Given the description of an element on the screen output the (x, y) to click on. 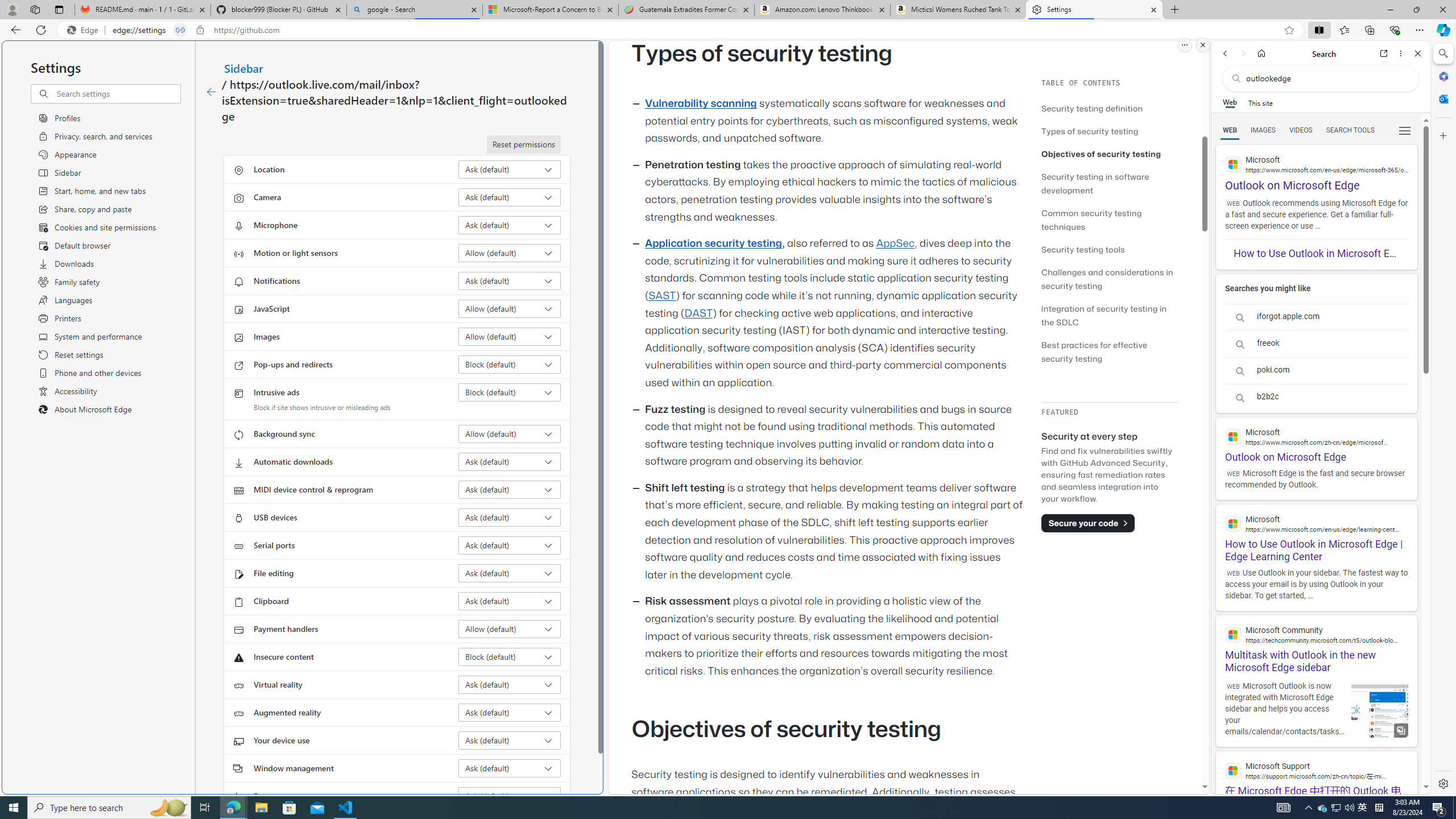
Multitask with Outlook in the new Microsoft Edge sidebar (1315, 644)
freeok (1315, 343)
Background sync Allow (default) (509, 434)
b2b2c (1315, 397)
Security testing tools (1083, 248)
Notifications Ask (default) (509, 280)
How to Use Outlook in Microsoft Edge | Edge Learning Center (1315, 533)
Close split screen. (1202, 45)
Images Allow (default) (509, 336)
Challenges and considerations in security testing (1107, 278)
Microsoft (1315, 523)
